Given the description of an element on the screen output the (x, y) to click on. 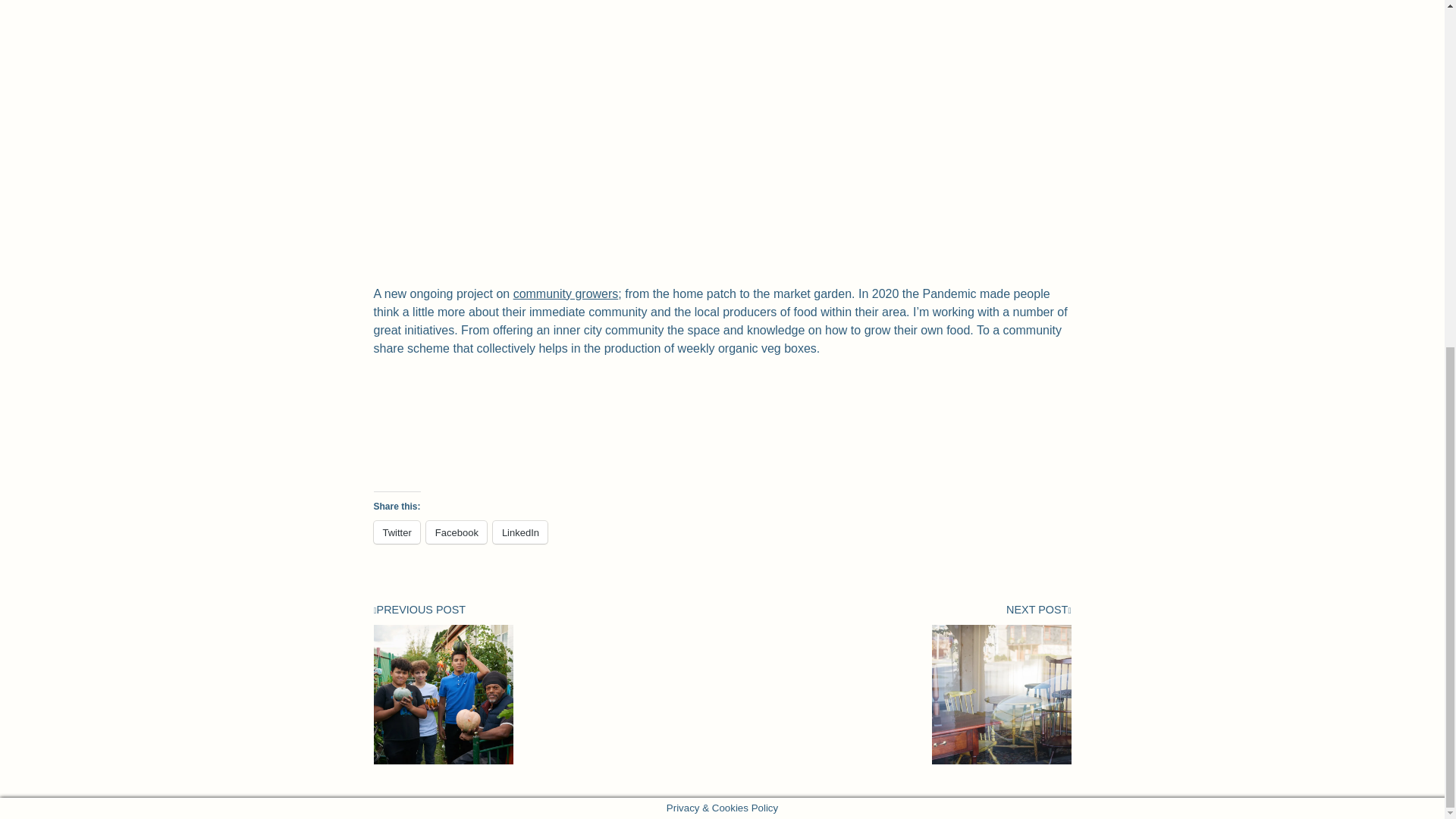
Click to share on Twitter (395, 531)
Click to share on LinkedIn (520, 531)
Click to share on Facebook (456, 531)
